Given the description of an element on the screen output the (x, y) to click on. 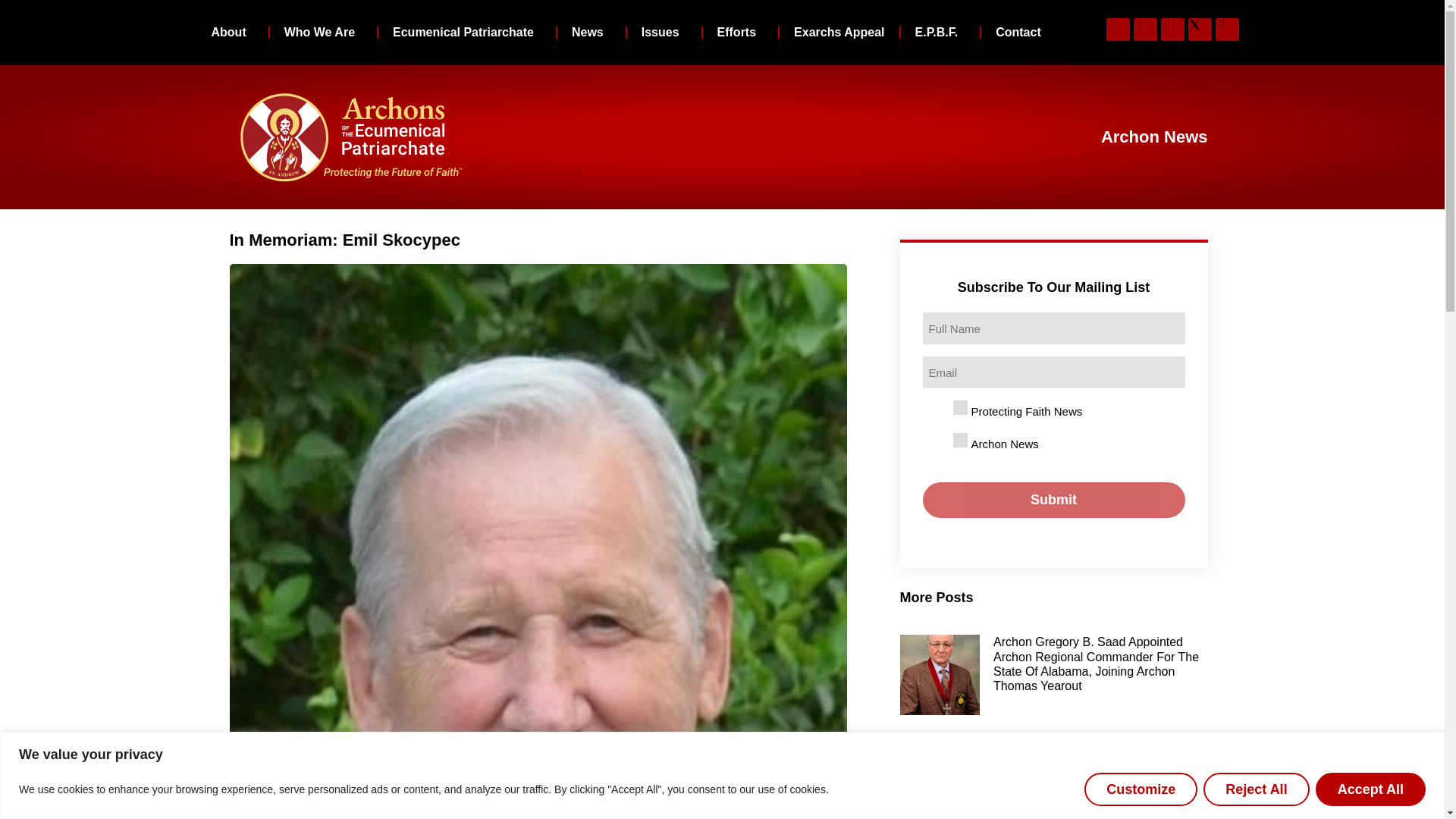
Submit (1054, 499)
Accept All (1370, 788)
Ecumenical Patriarchate (467, 32)
Customize (1140, 788)
1 (960, 407)
Reject All (1256, 788)
Who We Are (322, 32)
About (231, 32)
1 (960, 440)
